Given the description of an element on the screen output the (x, y) to click on. 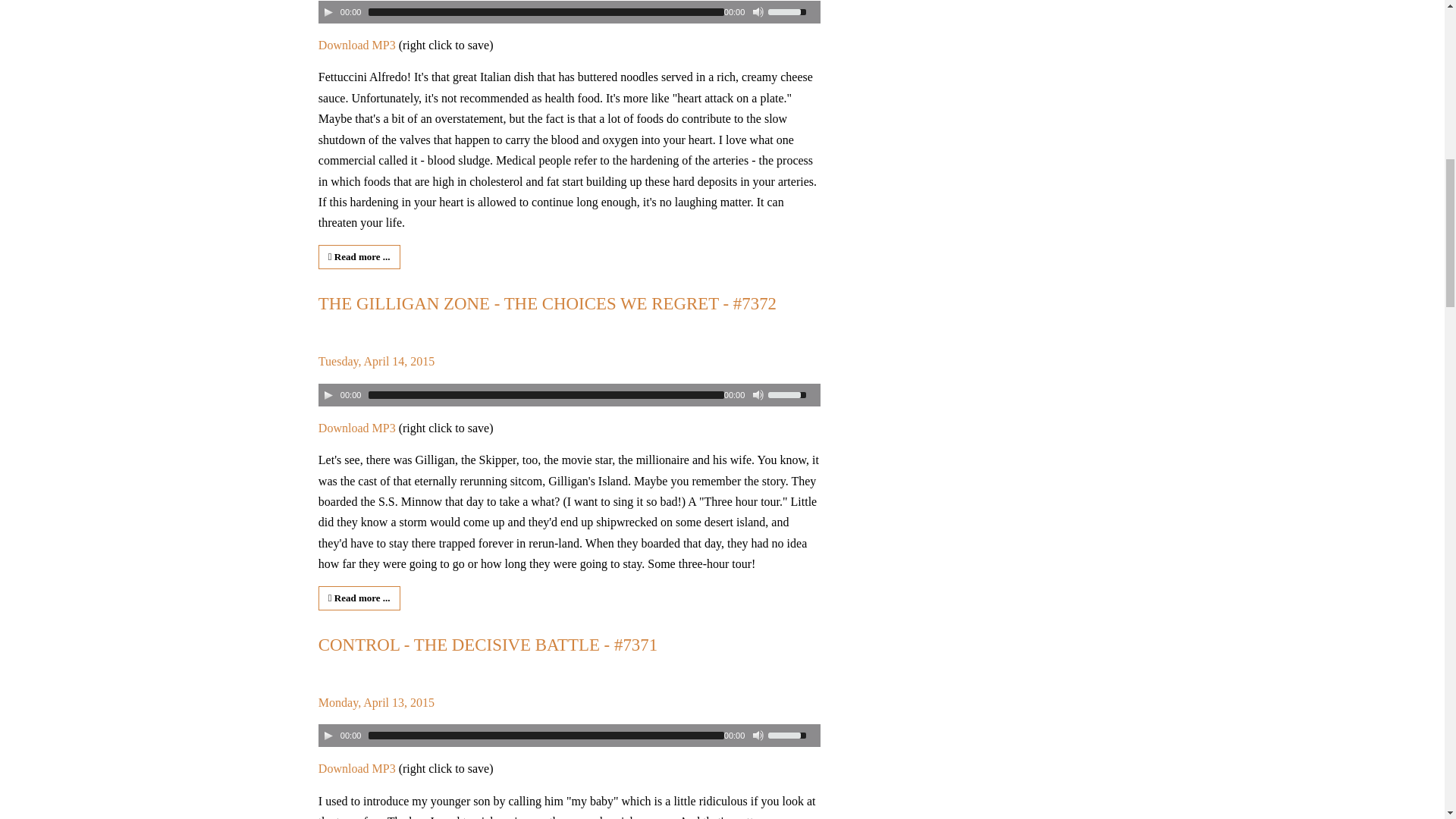
Mute Toggle (758, 395)
Mute Toggle (758, 11)
Mute Toggle (758, 735)
